Given the description of an element on the screen output the (x, y) to click on. 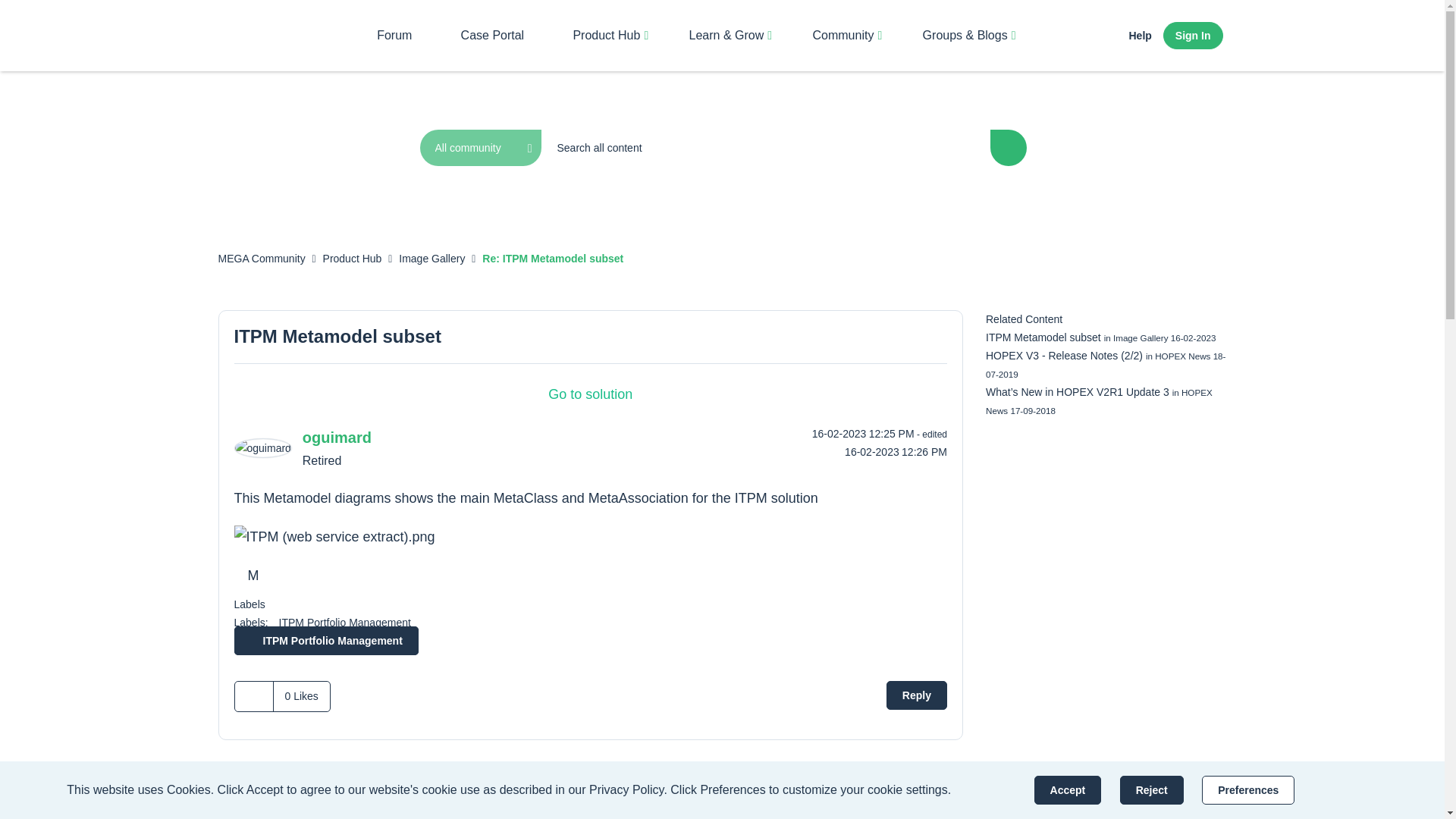
The total number of kudos this post has received. (301, 695)
Accept (1067, 789)
Search Granularity (480, 147)
oguimard (261, 447)
Search (1008, 147)
Preferences (1248, 789)
Reject (1151, 789)
MEGA Community (287, 35)
Search (1008, 147)
Community (841, 35)
